Given the description of an element on the screen output the (x, y) to click on. 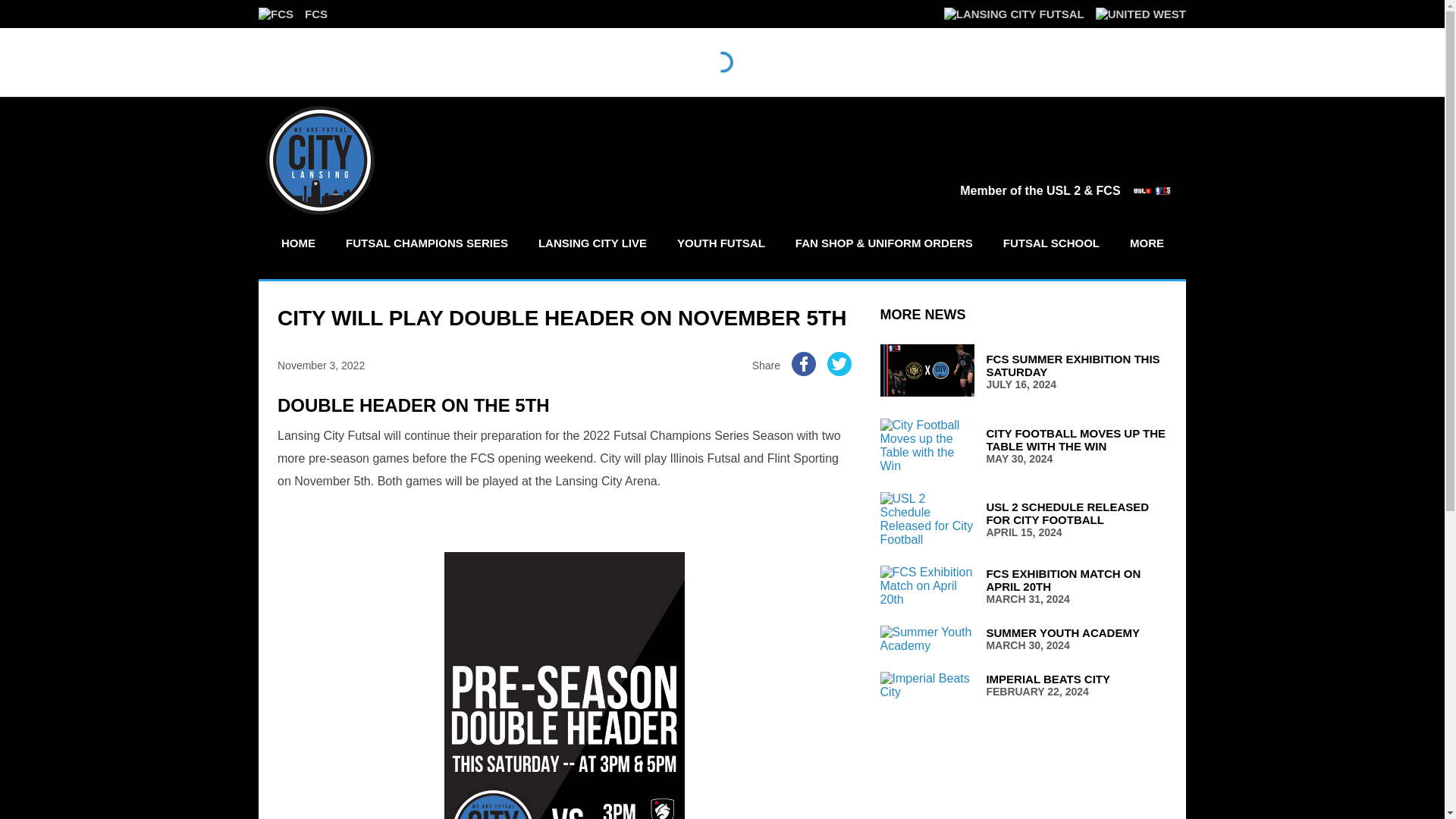
LANSING CITY LIVE (592, 242)
FCS (1023, 585)
HOME (293, 13)
FUTSAL SCHOOL (297, 242)
